Given the description of an element on the screen output the (x, y) to click on. 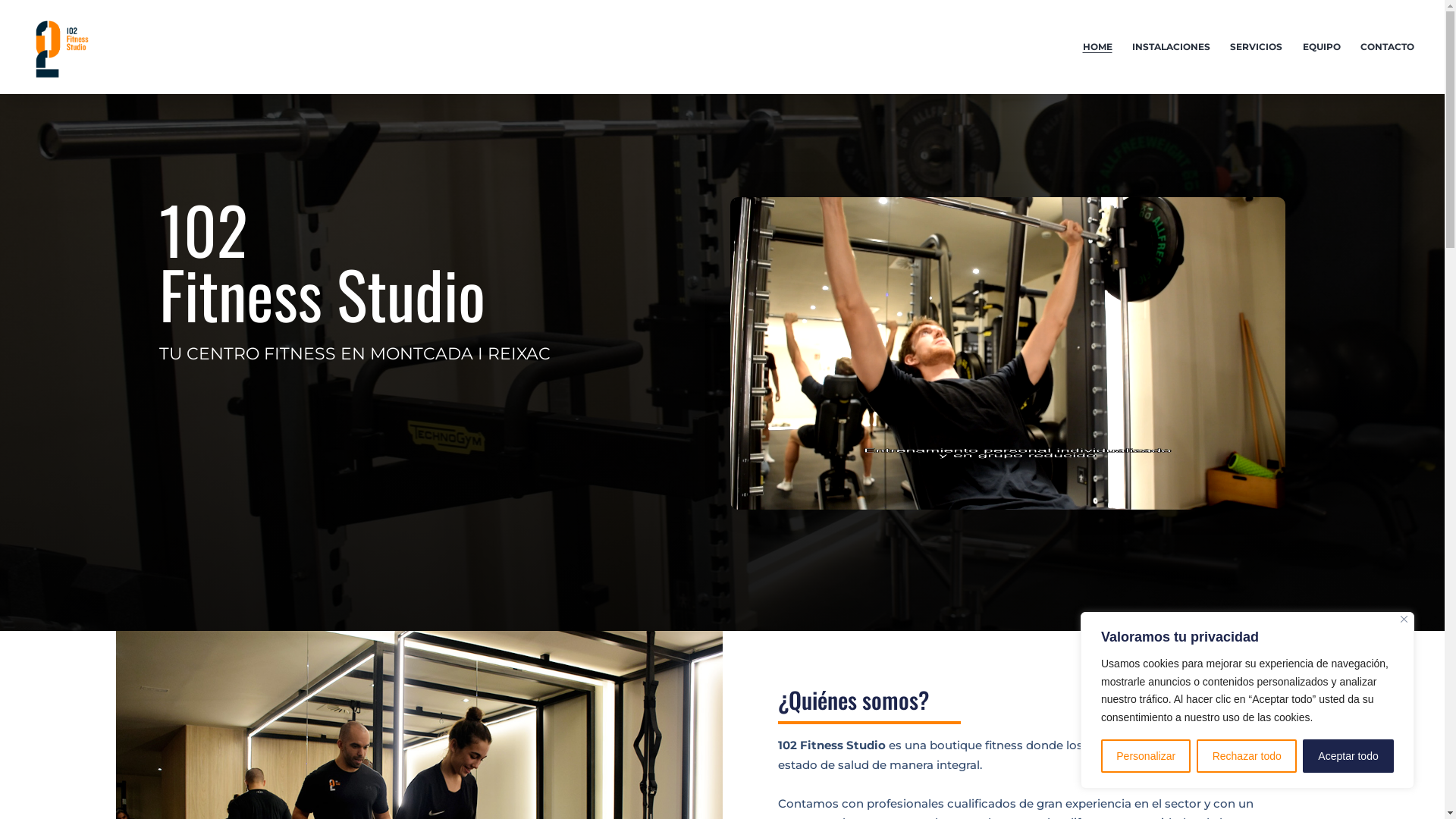
Aceptar todo Element type: text (1347, 755)
EQUIPO Element type: text (1320, 46)
INSTALACIONES Element type: text (1171, 46)
Personalizar Element type: text (1145, 755)
Rechazar todo Element type: text (1246, 755)
CONTACTO Element type: text (1387, 46)
SERVICIOS Element type: text (1256, 46)
HOME Element type: text (1096, 46)
